Given the description of an element on the screen output the (x, y) to click on. 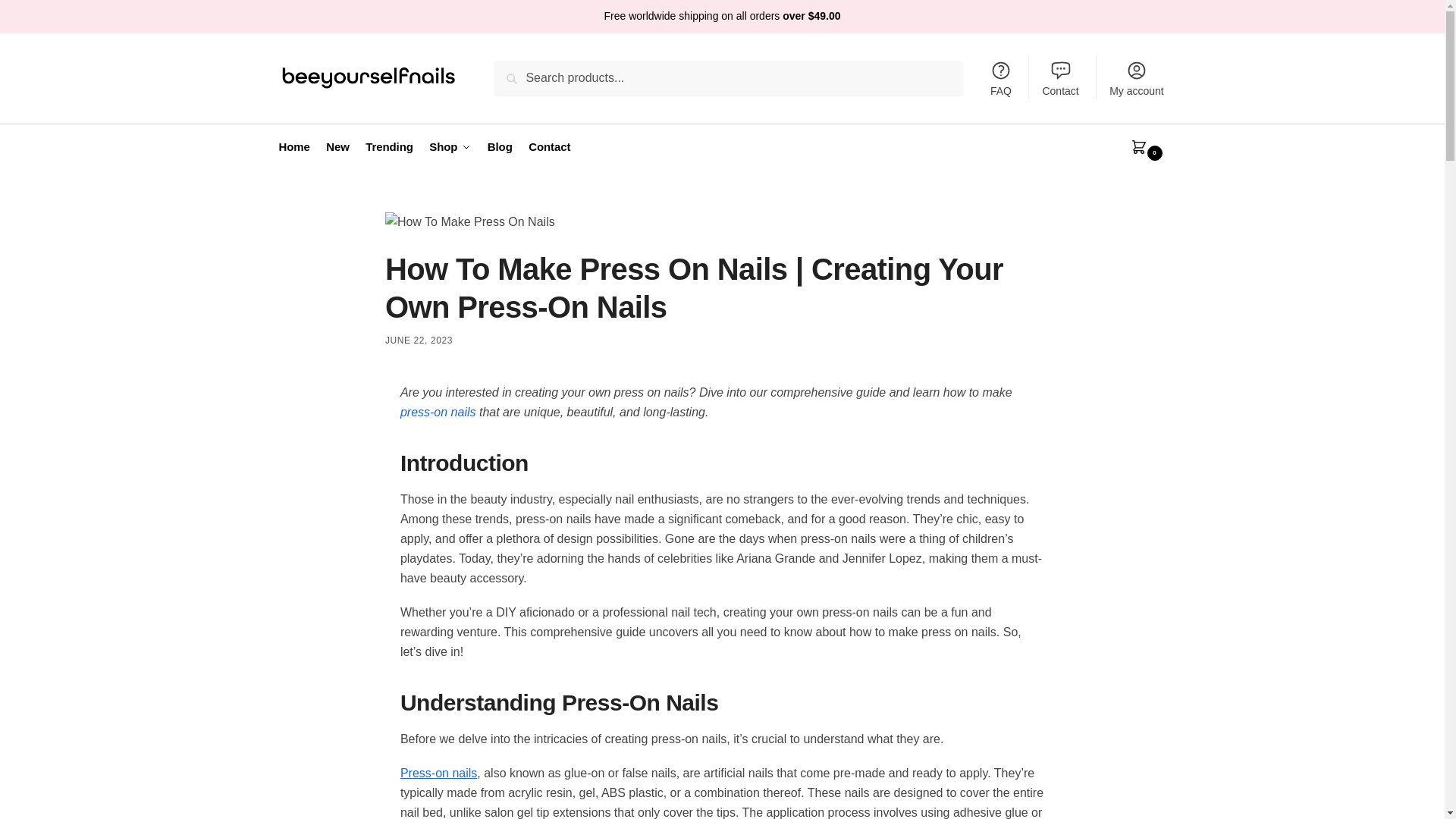
View your shopping cart (1132, 146)
Trending (389, 146)
Shop (450, 146)
My account (1136, 77)
FAQ (1001, 77)
Contact (1059, 77)
Search (518, 70)
